Given the description of an element on the screen output the (x, y) to click on. 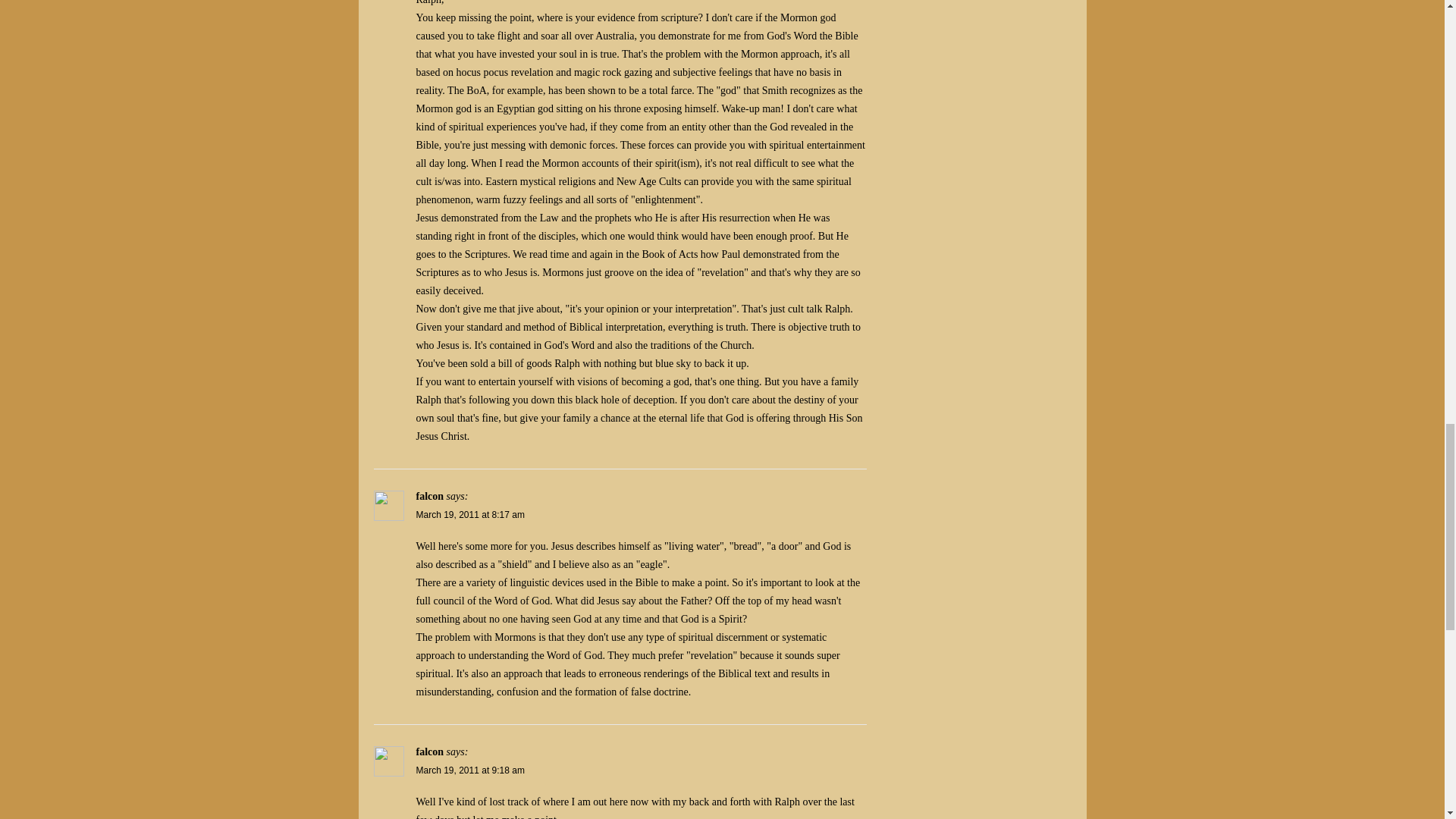
March 19, 2011 at 8:17 am (469, 514)
March 19, 2011 at 9:18 am (469, 769)
